Given the description of an element on the screen output the (x, y) to click on. 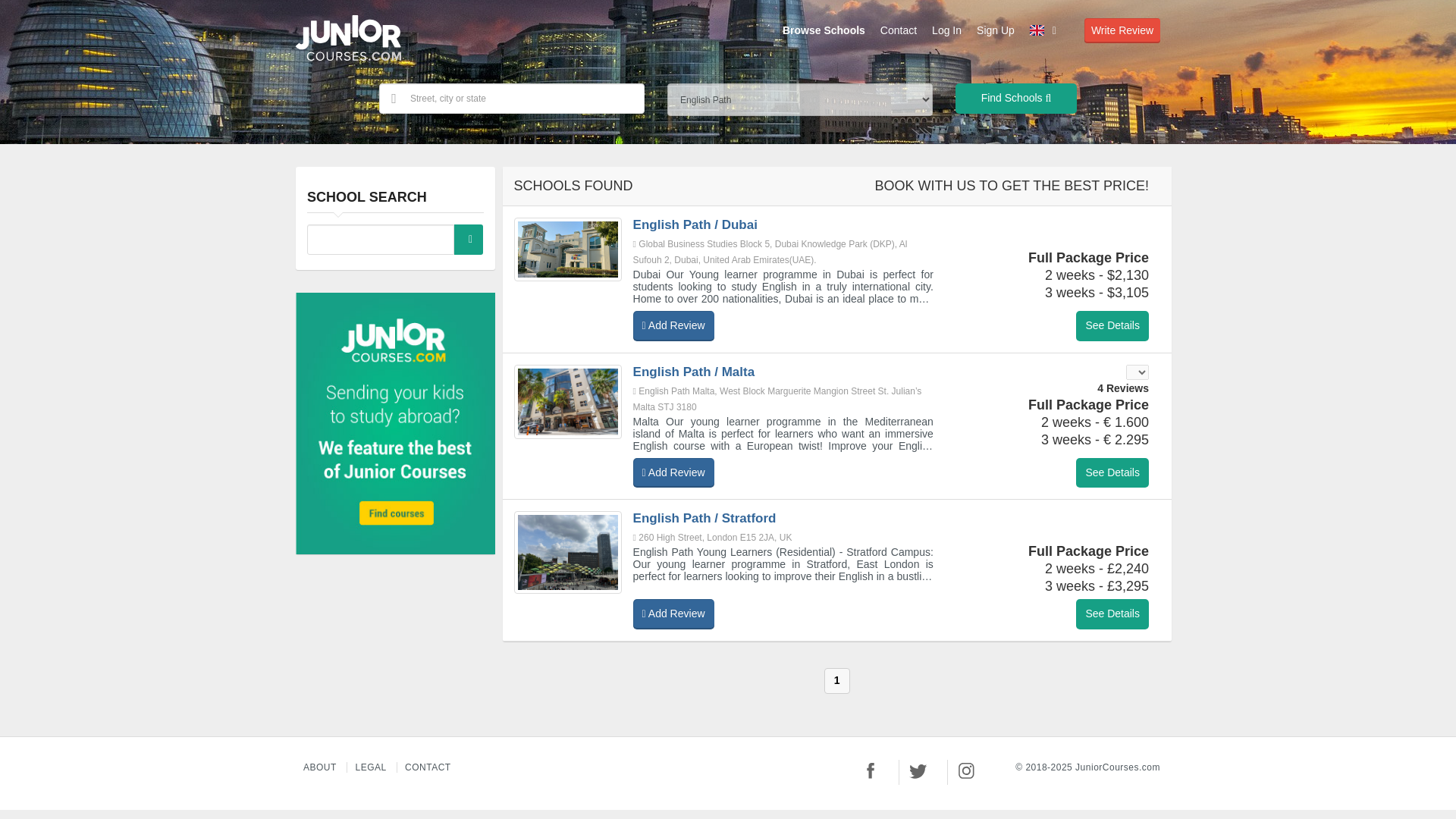
LEGAL (371, 767)
Add Review (673, 472)
See Details (1111, 326)
Add Review (673, 613)
We will give you a discount (1111, 472)
Sign Up (995, 30)
Browse Schools (823, 30)
ABOUT (320, 767)
Log In (946, 30)
Add Review (673, 326)
